Given the description of an element on the screen output the (x, y) to click on. 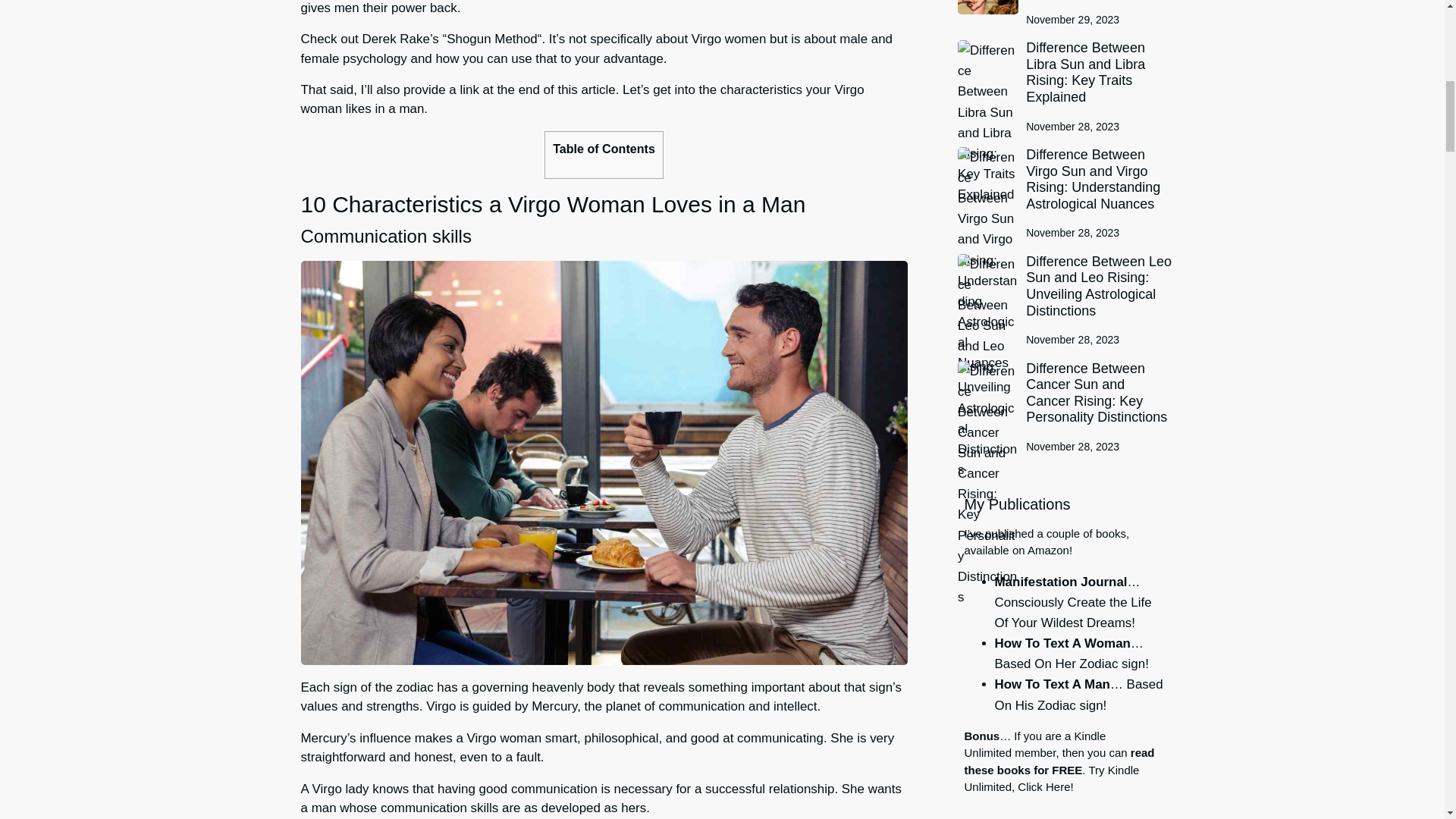
Shogun Method (491, 38)
